Given the description of an element on the screen output the (x, y) to click on. 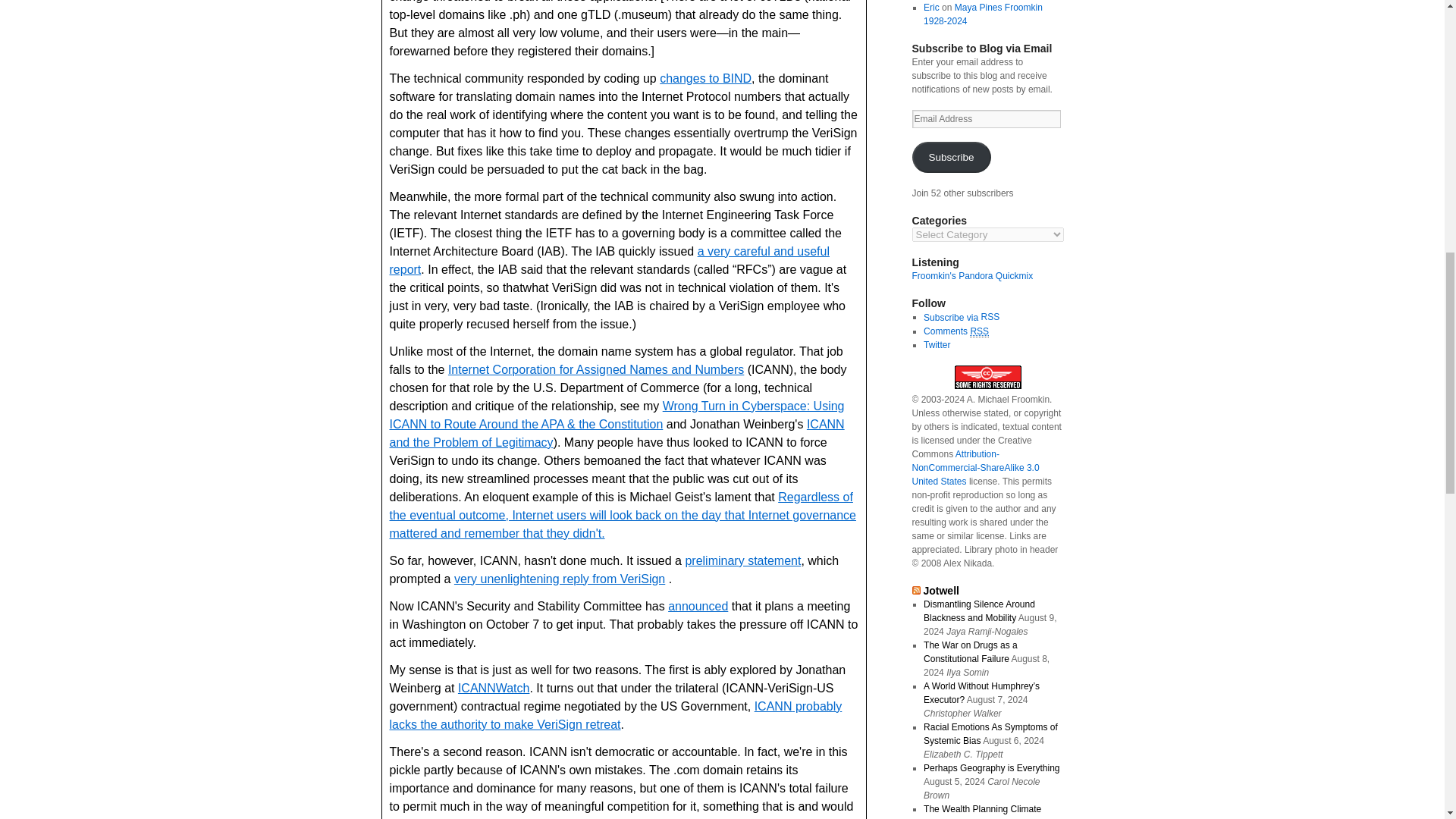
very unenlightening reply from VeriSign (559, 578)
ICANNWatch (493, 687)
ICANN probably lacks the authority to make VeriSign retreat (616, 715)
announced (698, 605)
preliminary statement (742, 560)
ICANN and the Problem of Legitimacy (617, 432)
Internet Corporation for Assigned Names and Numbers (596, 369)
a very careful and useful report (609, 260)
changes to BIND (705, 78)
